Given the description of an element on the screen output the (x, y) to click on. 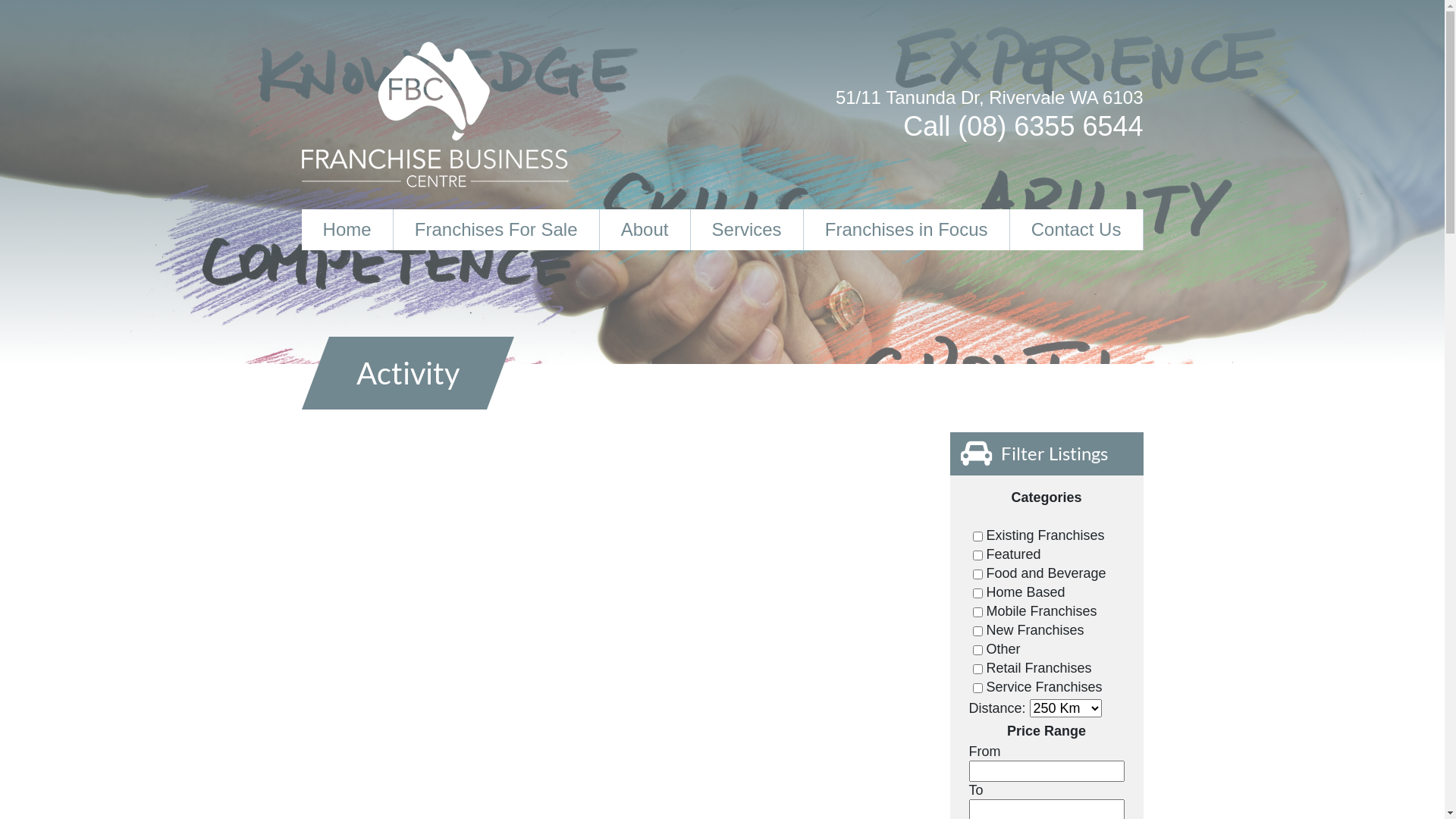
Services Element type: text (746, 229)
Franchises in Focus Element type: text (906, 229)
Home Element type: text (347, 229)
Franchises For Sale Element type: text (496, 229)
Contact Us Element type: text (1076, 229)
About Element type: text (644, 229)
